Given the description of an element on the screen output the (x, y) to click on. 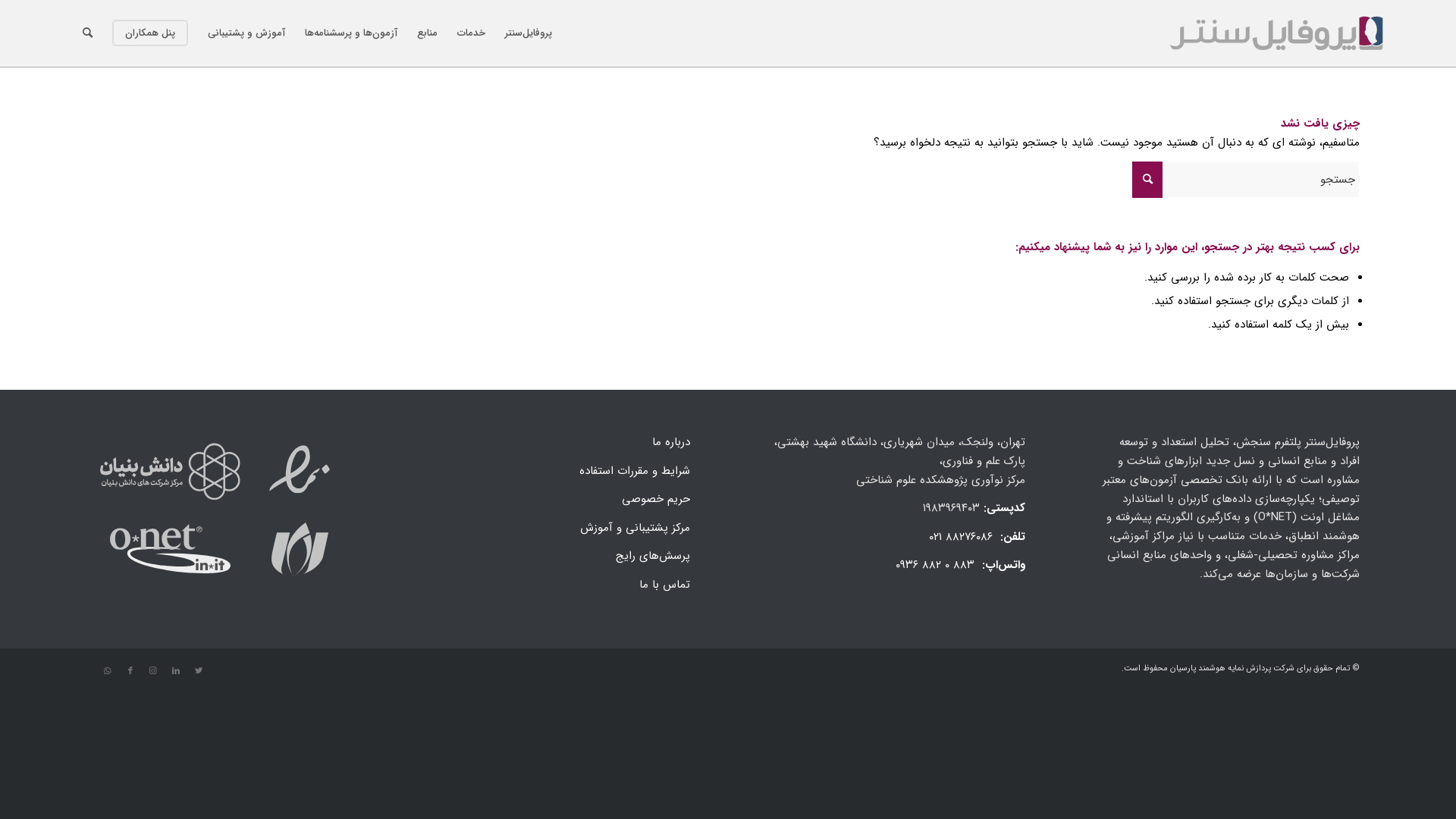
Instagram Element type: hover (152, 670)
Twitter Element type: hover (198, 670)
WhatsApp Element type: hover (107, 670)
LinkedIn Element type: hover (175, 670)
Facebook Element type: hover (130, 670)
